Given the description of an element on the screen output the (x, y) to click on. 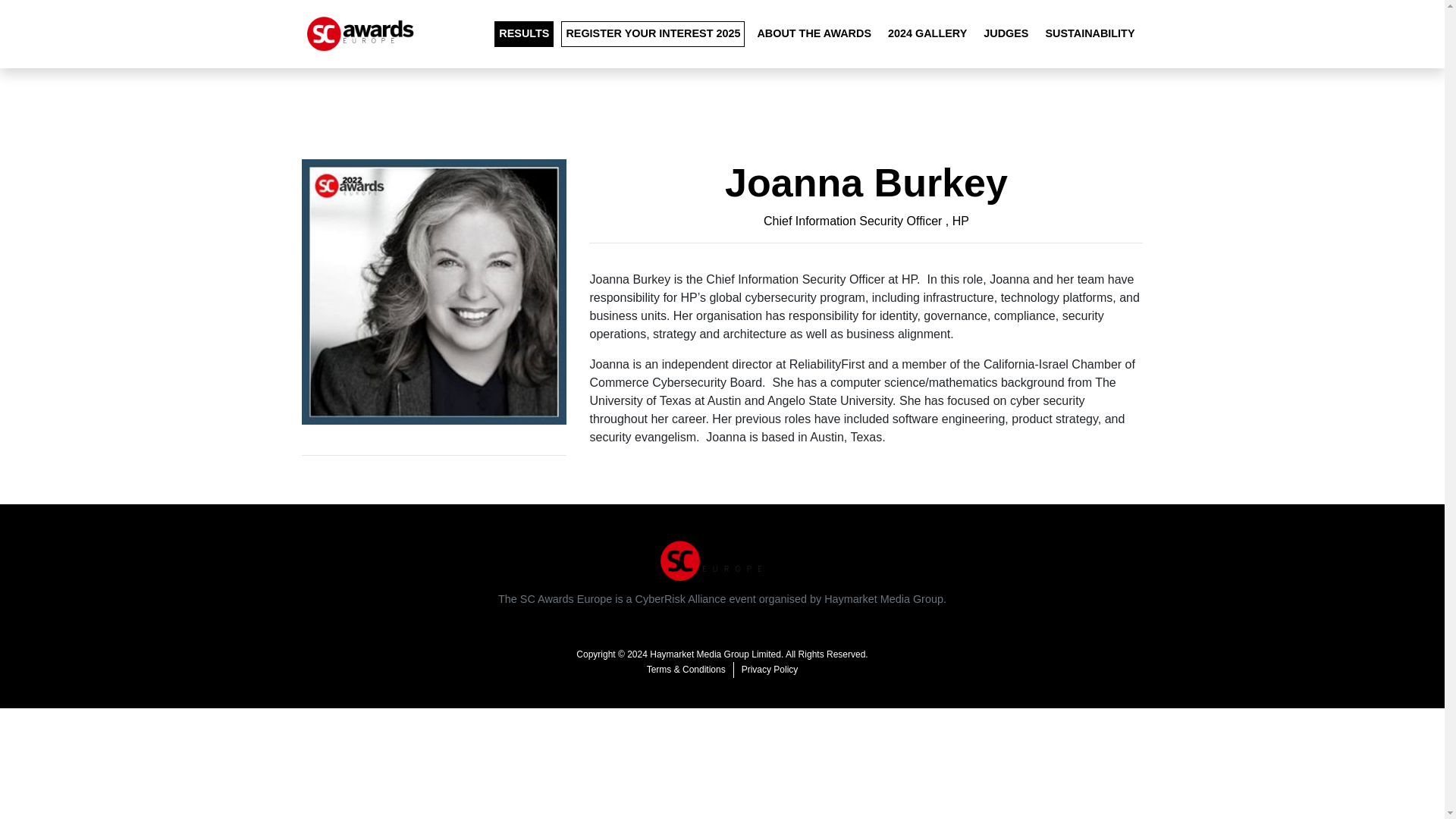
2024 GALLERY (927, 33)
2024 GALLERY (927, 33)
SUSTAINABILITY (1089, 33)
REGISTER YOUR INTEREST 2025 (652, 33)
ABOUT THE AWARDS (814, 33)
Privacy Policy (769, 669)
RESULTS (524, 33)
JUDGES (1005, 33)
JUDGES (1005, 33)
ABOUT THE AWARDS (814, 33)
